Given the description of an element on the screen output the (x, y) to click on. 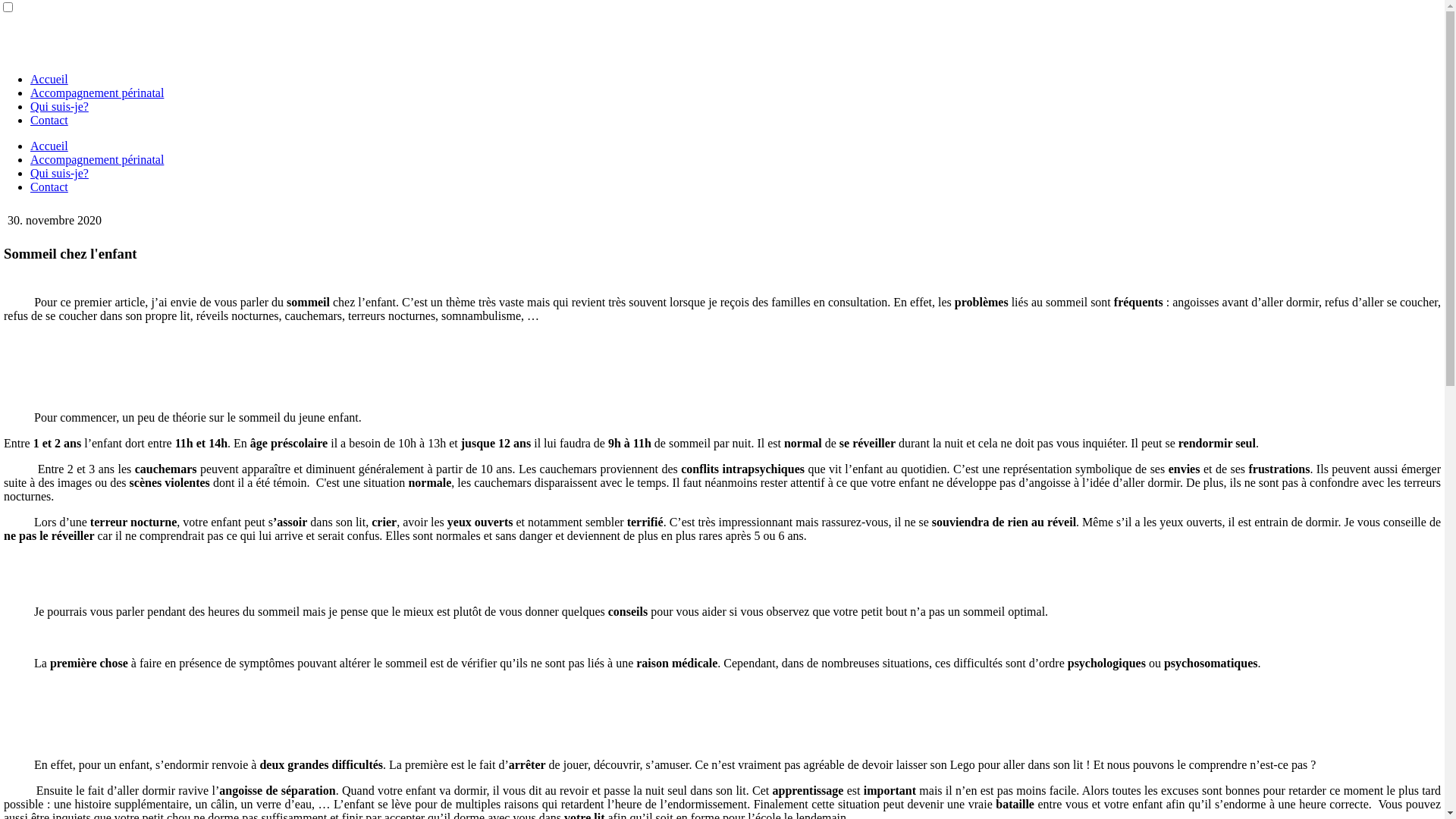
Accueil Element type: text (49, 145)
Qui suis-je? Element type: text (59, 172)
Qui suis-je? Element type: text (59, 106)
Accueil Element type: text (49, 78)
Contact Element type: text (49, 119)
Contact Element type: text (49, 186)
